Given the description of an element on the screen output the (x, y) to click on. 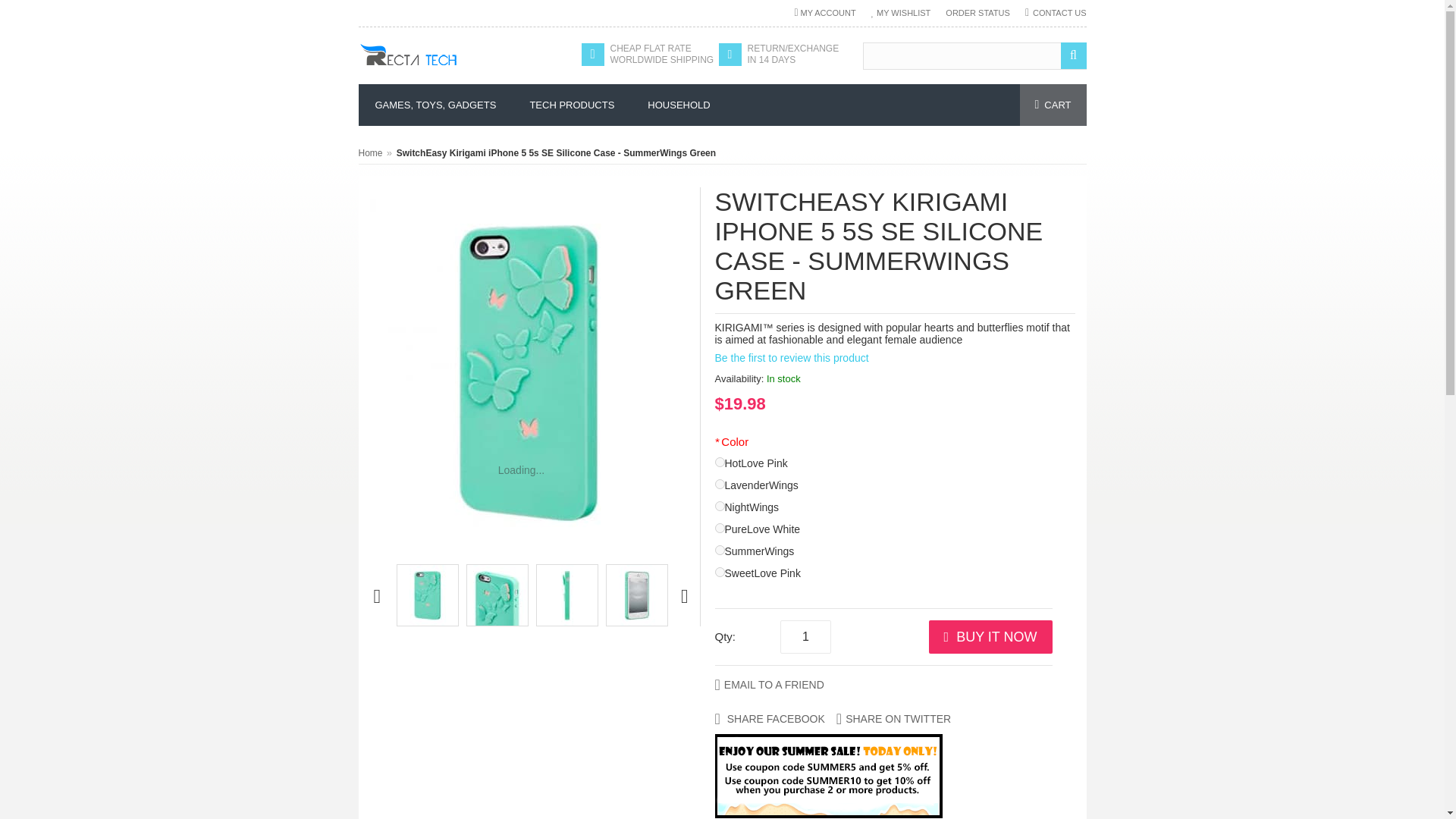
GAMES, TOYS, GADGETS (435, 105)
MY ACCOUNT (824, 12)
Go to Home Page (369, 153)
Share on Twitter (892, 718)
1874 (718, 572)
TECH PRODUCTS (571, 105)
ORDER STATUS (977, 12)
1869 (718, 461)
1870 (718, 483)
Quantity: (805, 636)
1873 (718, 550)
1871 (718, 506)
